Given the description of an element on the screen output the (x, y) to click on. 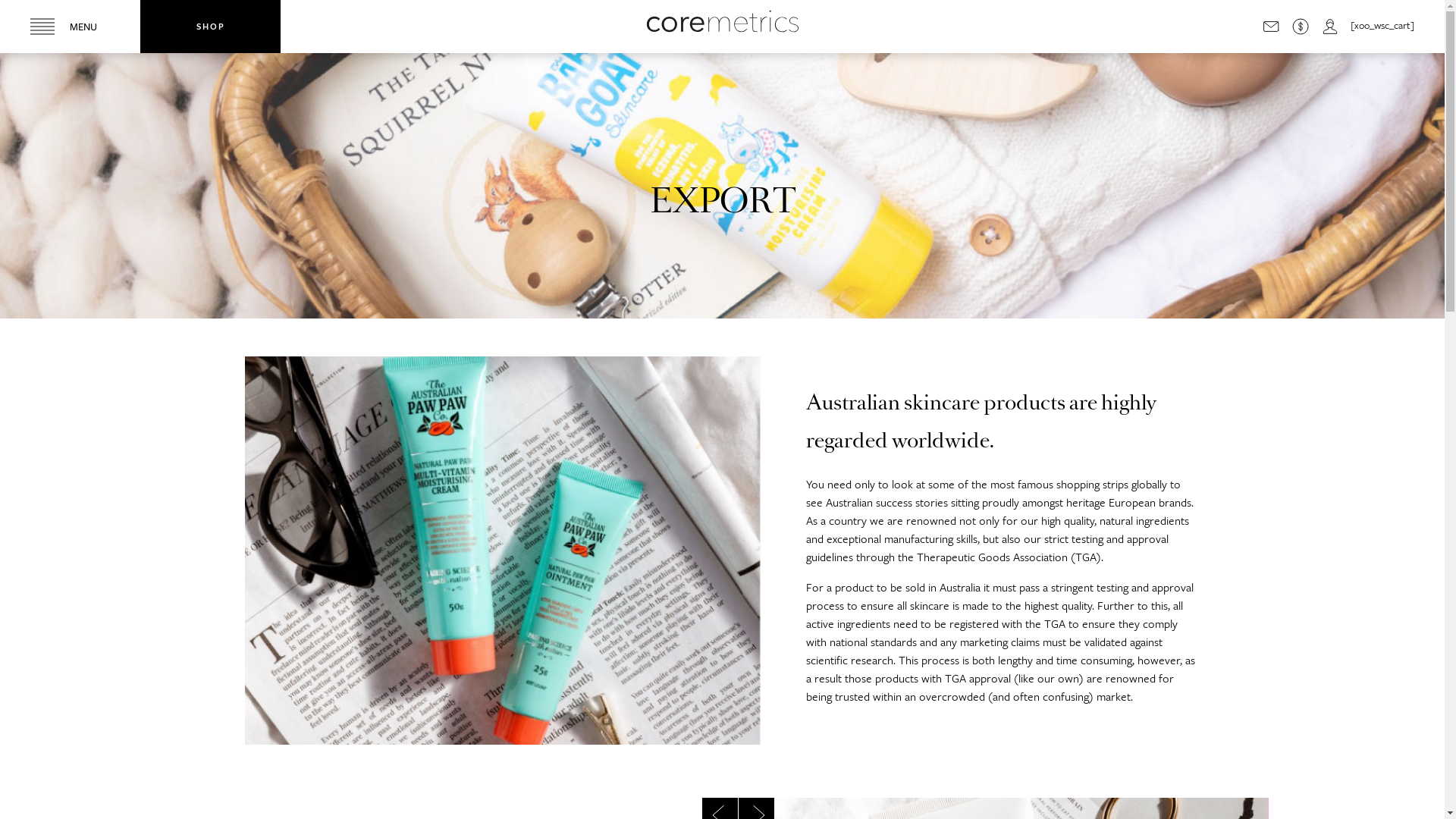
Money Element type: text (1300, 26)
Contact Element type: text (1270, 26)
Account Element type: text (1330, 26)
SHOP Element type: text (210, 26)
MENU Element type: text (70, 26)
